Given the description of an element on the screen output the (x, y) to click on. 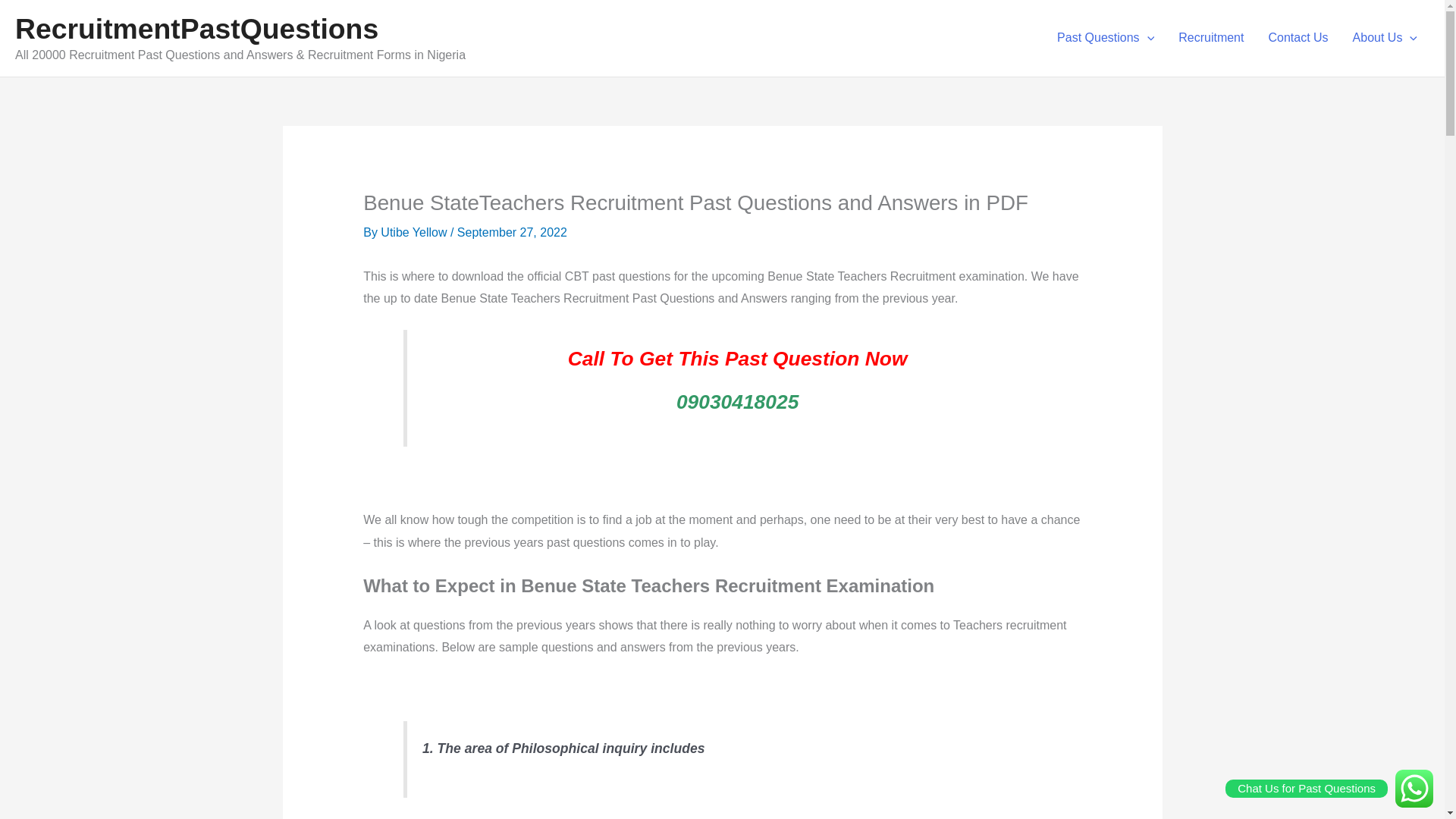
Contact Us (1297, 37)
About Us (1384, 37)
Utibe Yellow (414, 232)
Past Questions (1105, 37)
RecruitmentPastQuestions (196, 29)
View all posts by Utibe Yellow (414, 232)
Recruitment (1210, 37)
